Given the description of an element on the screen output the (x, y) to click on. 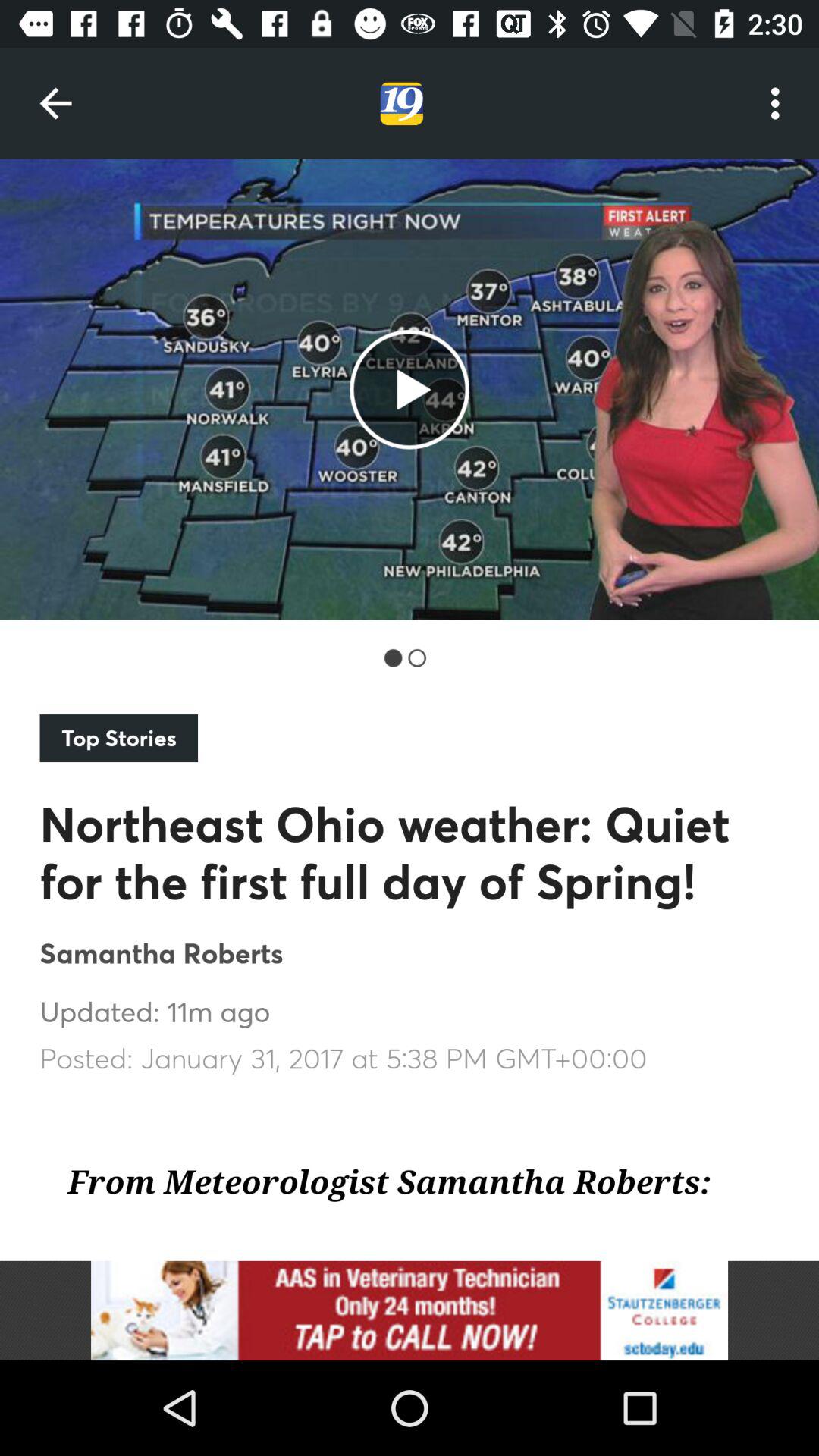
add image icon (409, 1310)
